Given the description of an element on the screen output the (x, y) to click on. 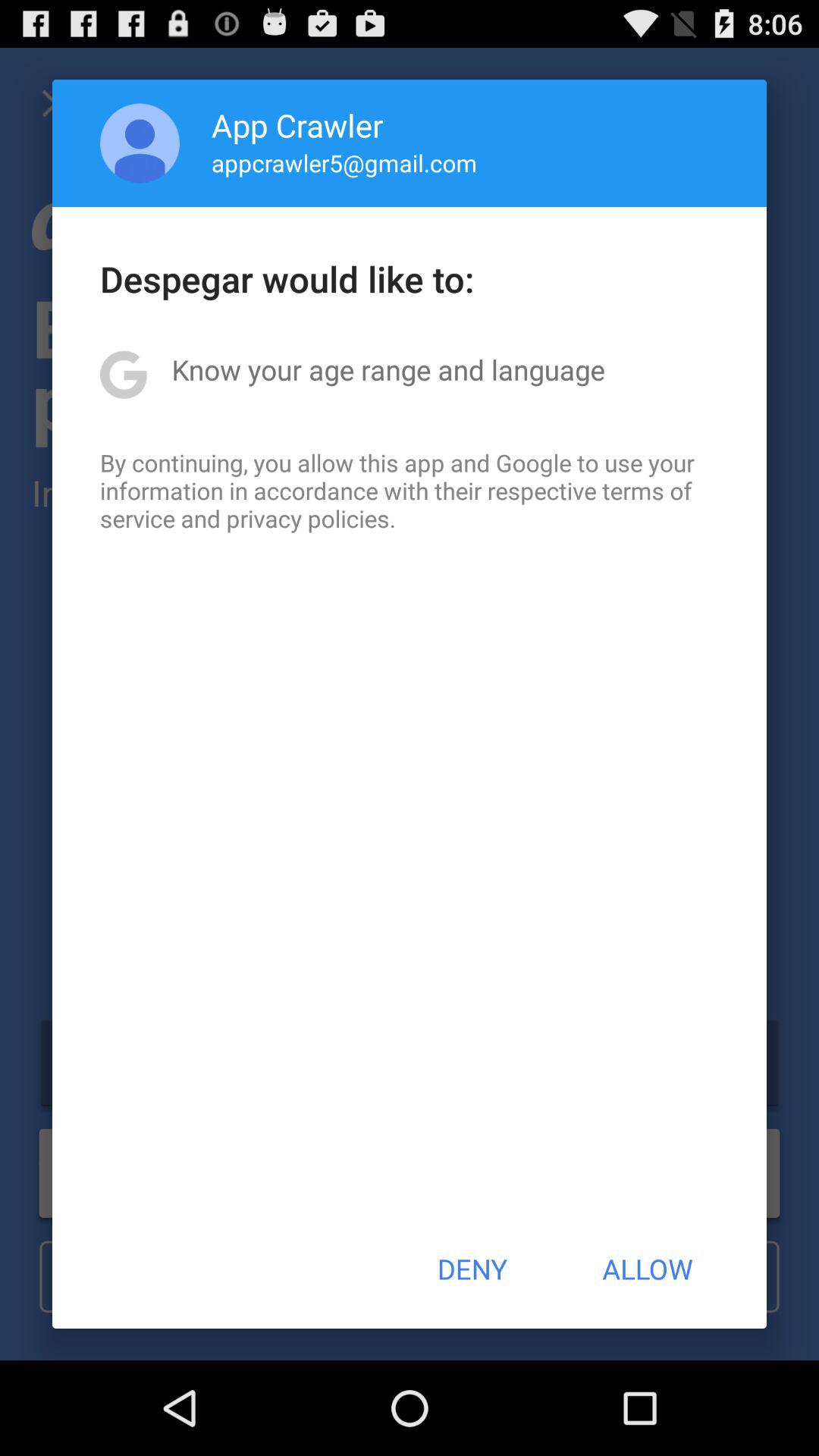
press the appcrawler5@gmail.com item (344, 162)
